Given the description of an element on the screen output the (x, y) to click on. 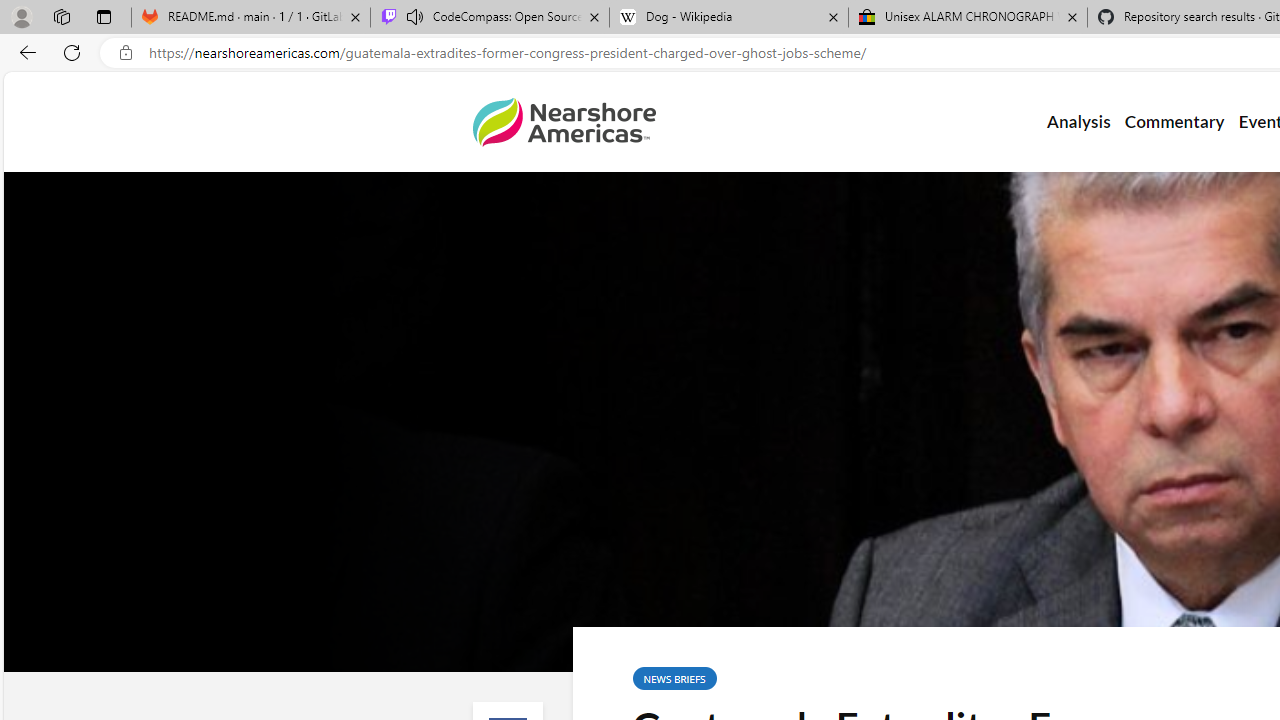
Nearshore Americas (563, 121)
Commentary (1174, 121)
Dog - Wikipedia (729, 17)
